Given the description of an element on the screen output the (x, y) to click on. 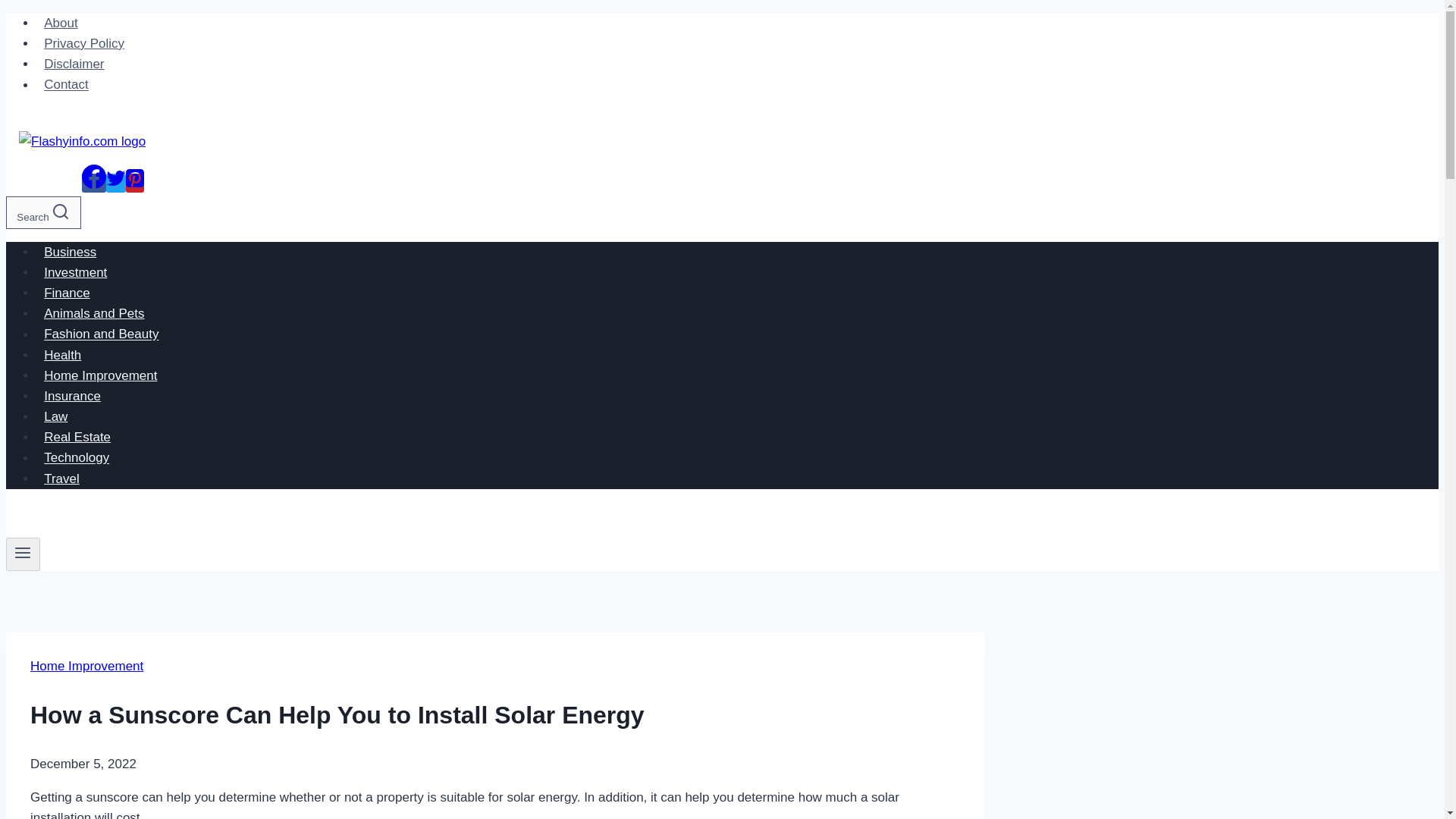
Investment (75, 272)
Privacy Policy (84, 43)
Toggle Menu (22, 552)
Law (55, 416)
Toggle Menu (22, 553)
Travel (61, 478)
Insurance (71, 396)
Animals and Pets (94, 313)
Home Improvement (86, 666)
